Given the description of an element on the screen output the (x, y) to click on. 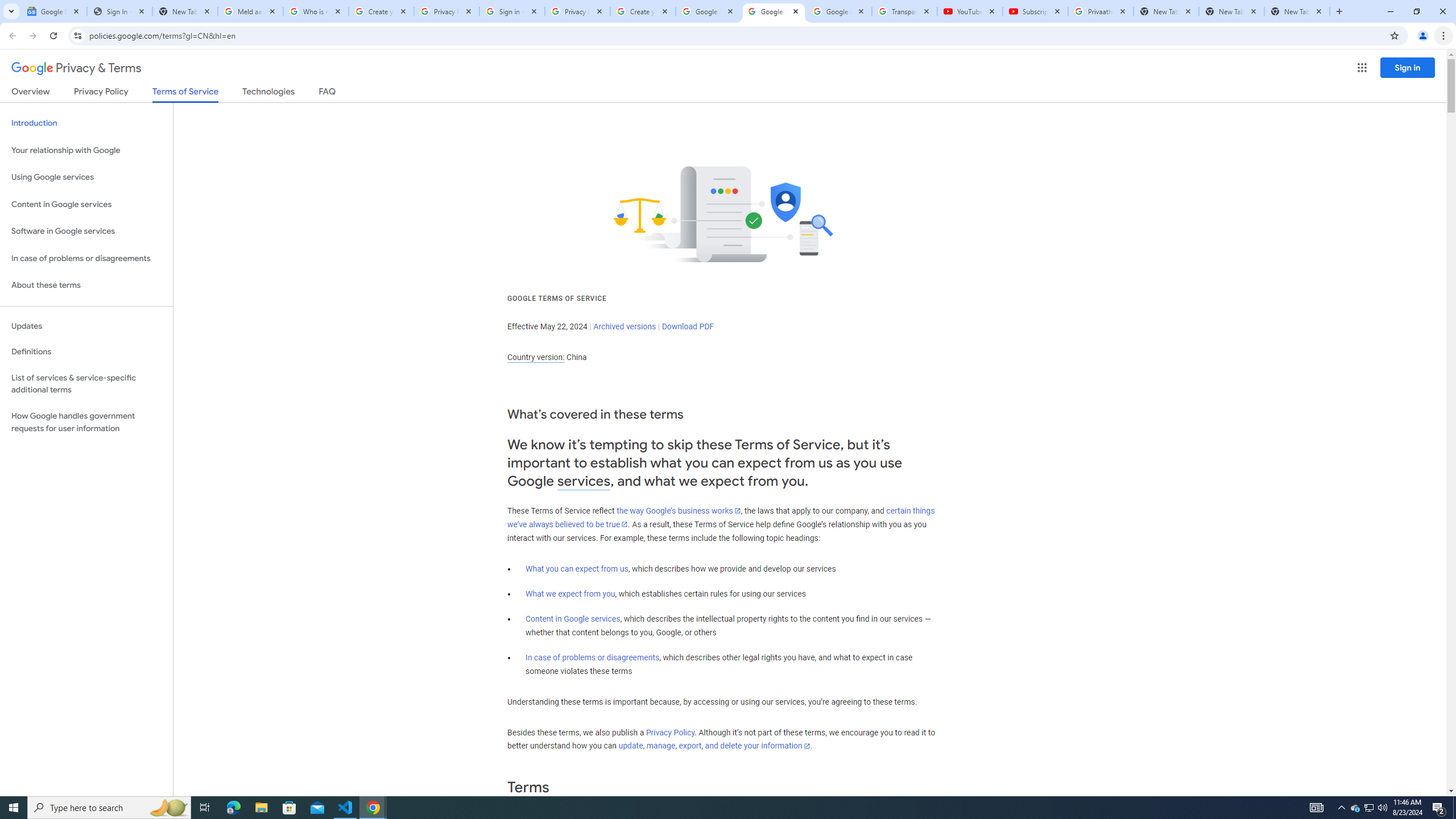
services (583, 480)
Country version: (535, 357)
Sign In - USA TODAY (119, 11)
